Given the description of an element on the screen output the (x, y) to click on. 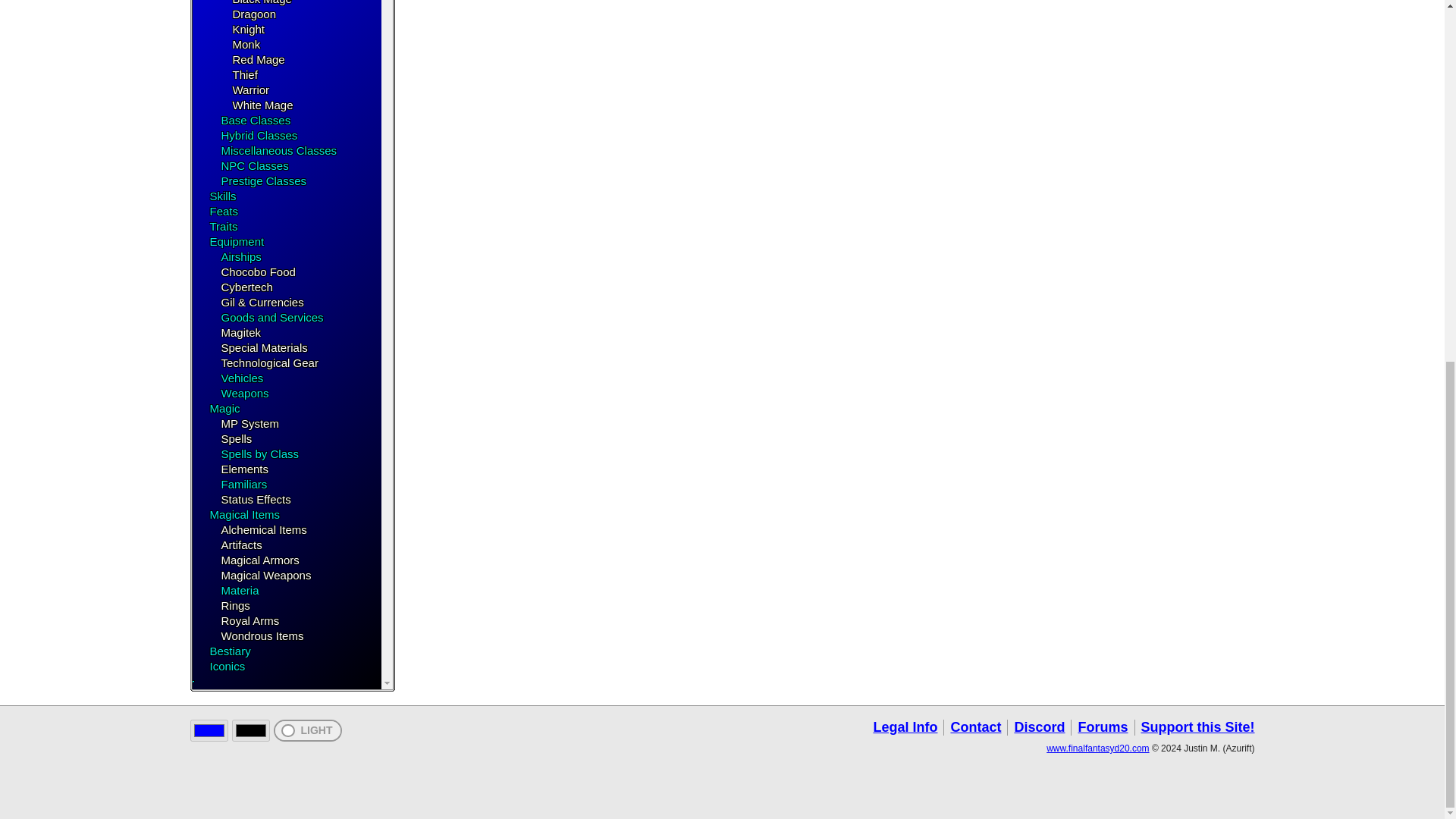
Bottom right corner sidebar menu gradient color (250, 730)
Upper left corner sidebar menu gradient color (208, 730)
